Given the description of an element on the screen output the (x, y) to click on. 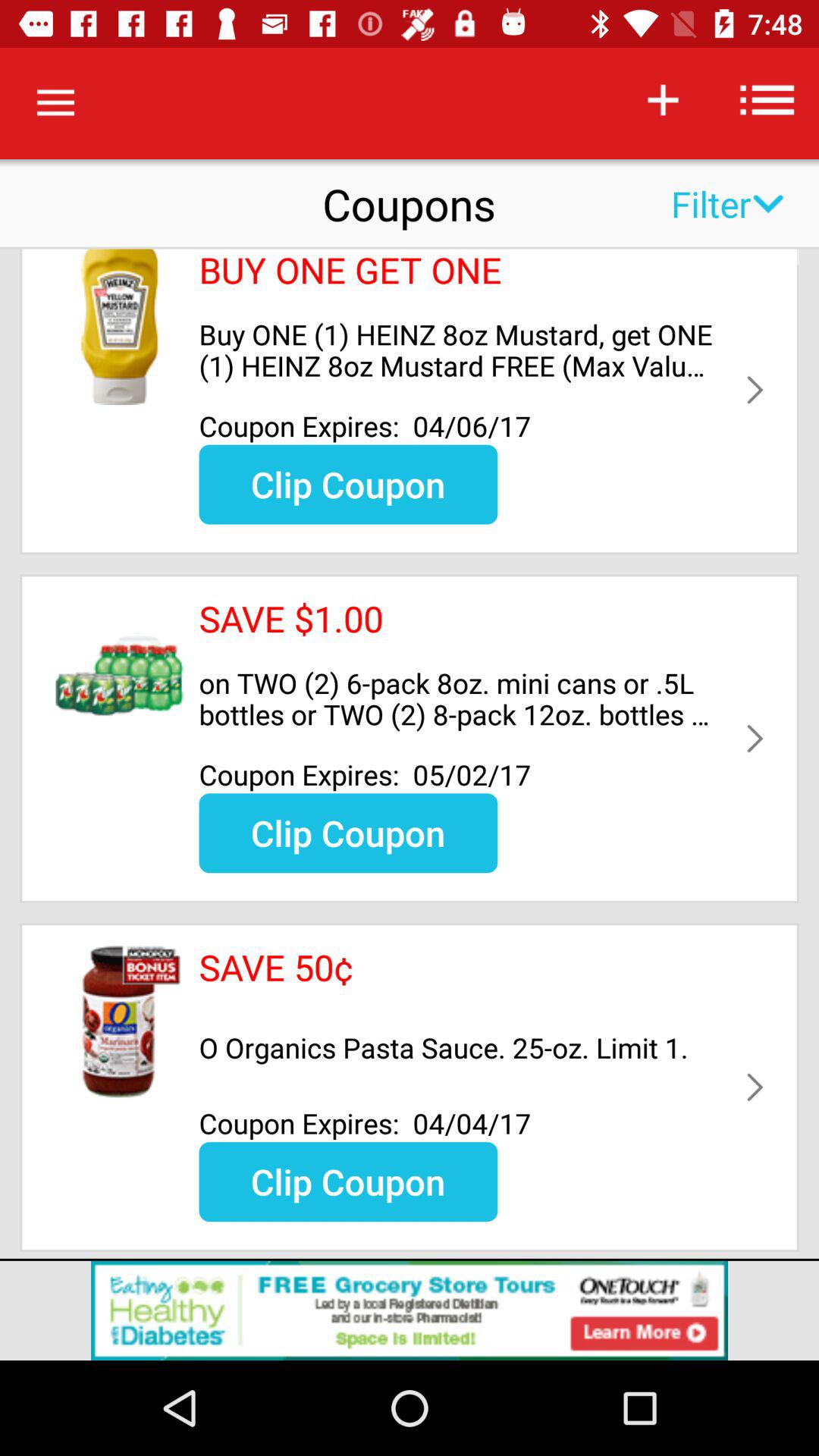
advertisement (409, 1310)
